Given the description of an element on the screen output the (x, y) to click on. 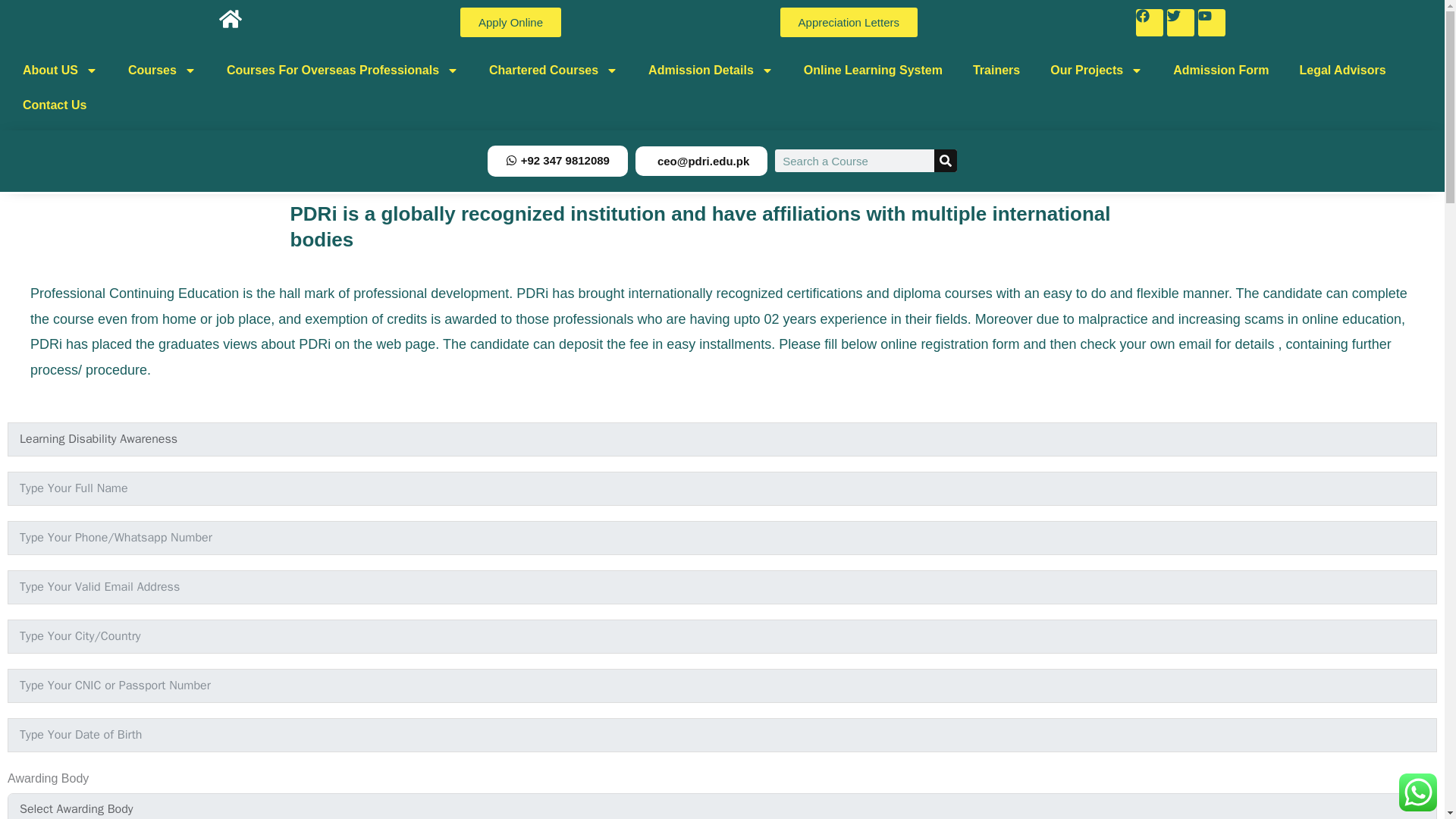
Appreciation Letters (848, 21)
Youtube (1211, 22)
Learning Disability Awareness (722, 439)
Apply Online (510, 21)
About US (60, 70)
Courses (162, 70)
Facebook (1149, 22)
Twitter (1180, 22)
